Given the description of an element on the screen output the (x, y) to click on. 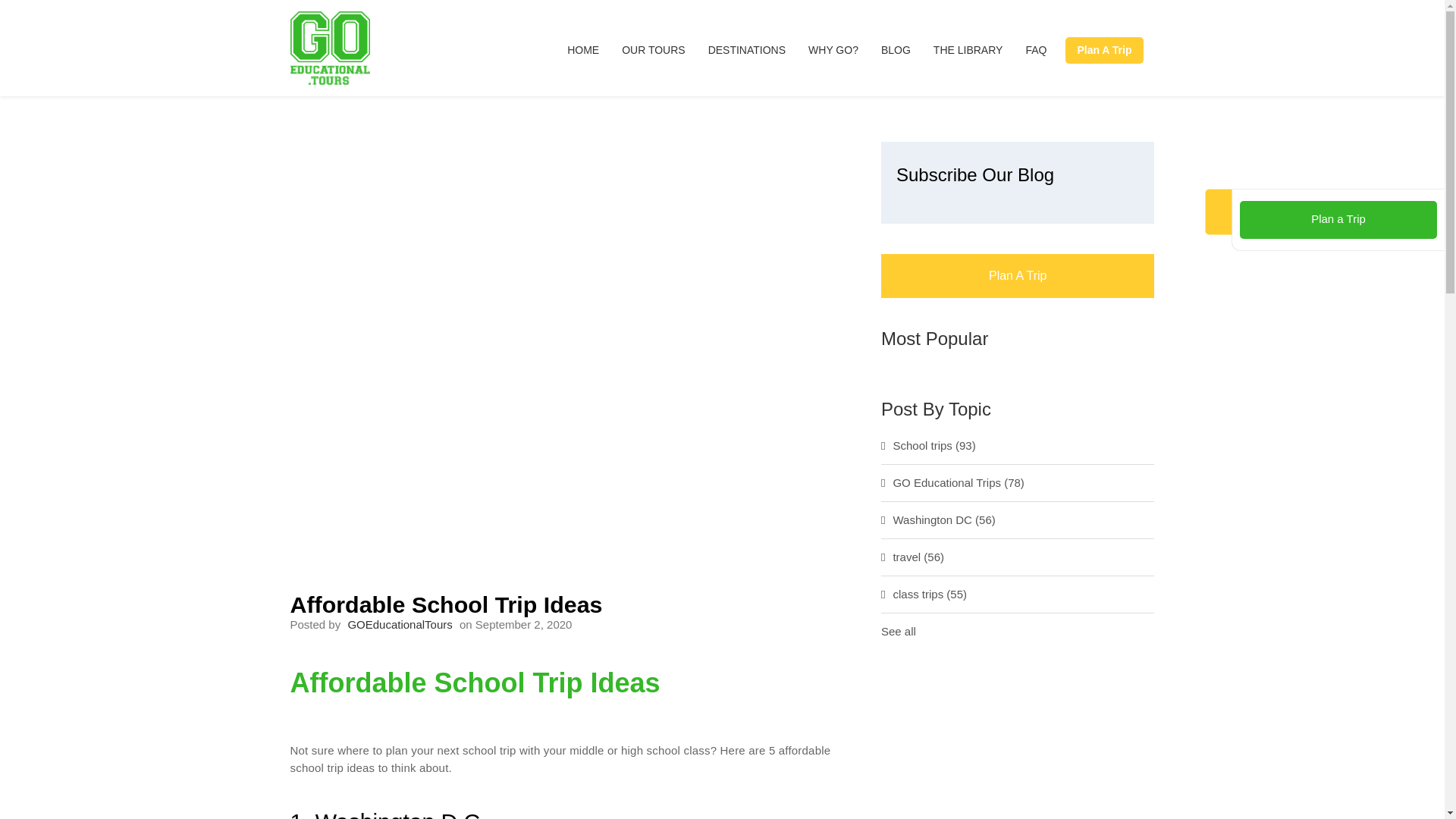
HOME (588, 49)
OUR TOURS (653, 49)
DESTINATIONS (746, 49)
